Given the description of an element on the screen output the (x, y) to click on. 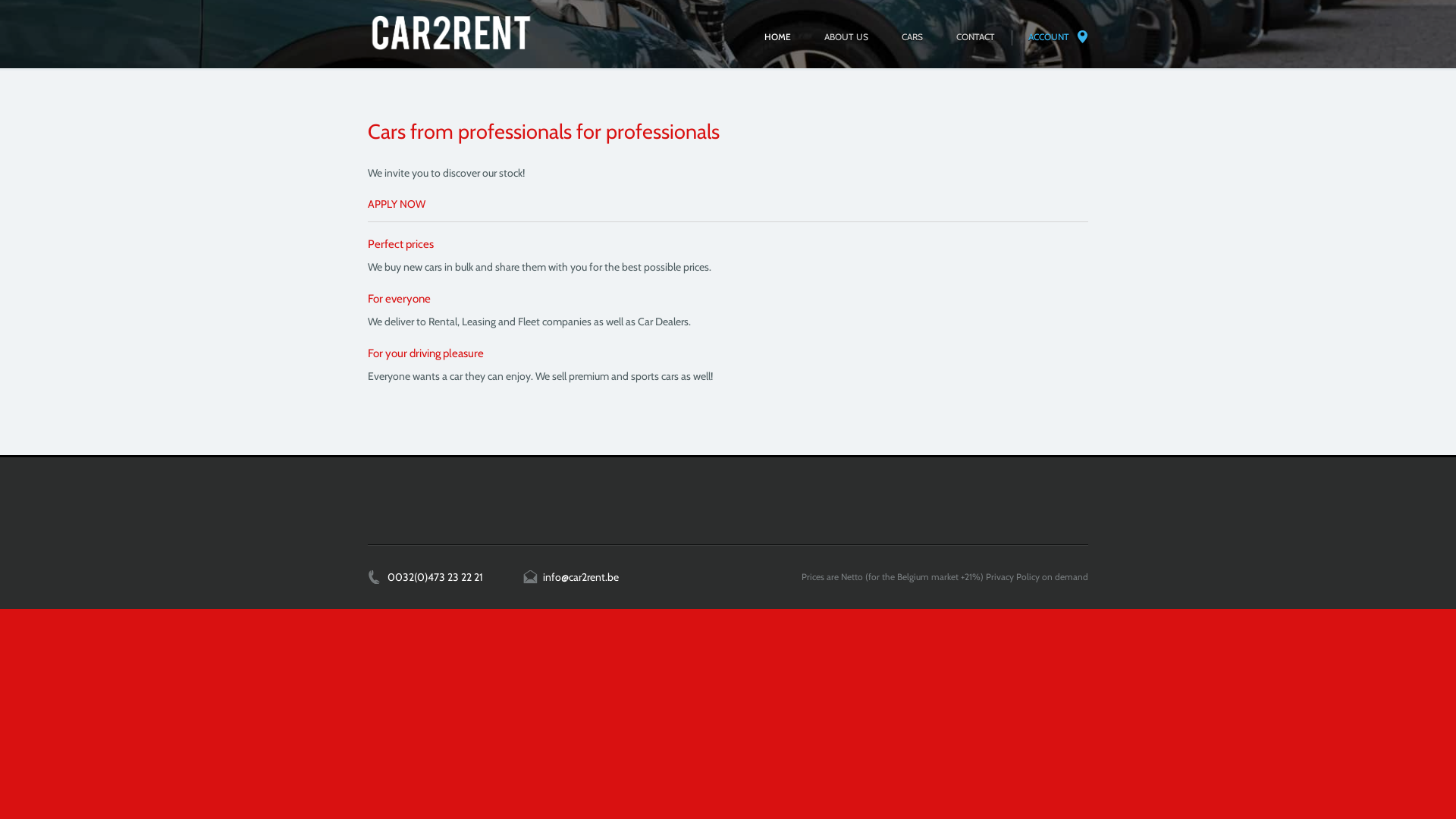
HOME Element type: text (777, 37)
CONTACT Element type: text (975, 37)
APPLY NOW Element type: text (396, 203)
CARS Element type: text (911, 37)
ACCOUNT Element type: text (1049, 37)
ABOUT US Element type: text (846, 37)
